Given the description of an element on the screen output the (x, y) to click on. 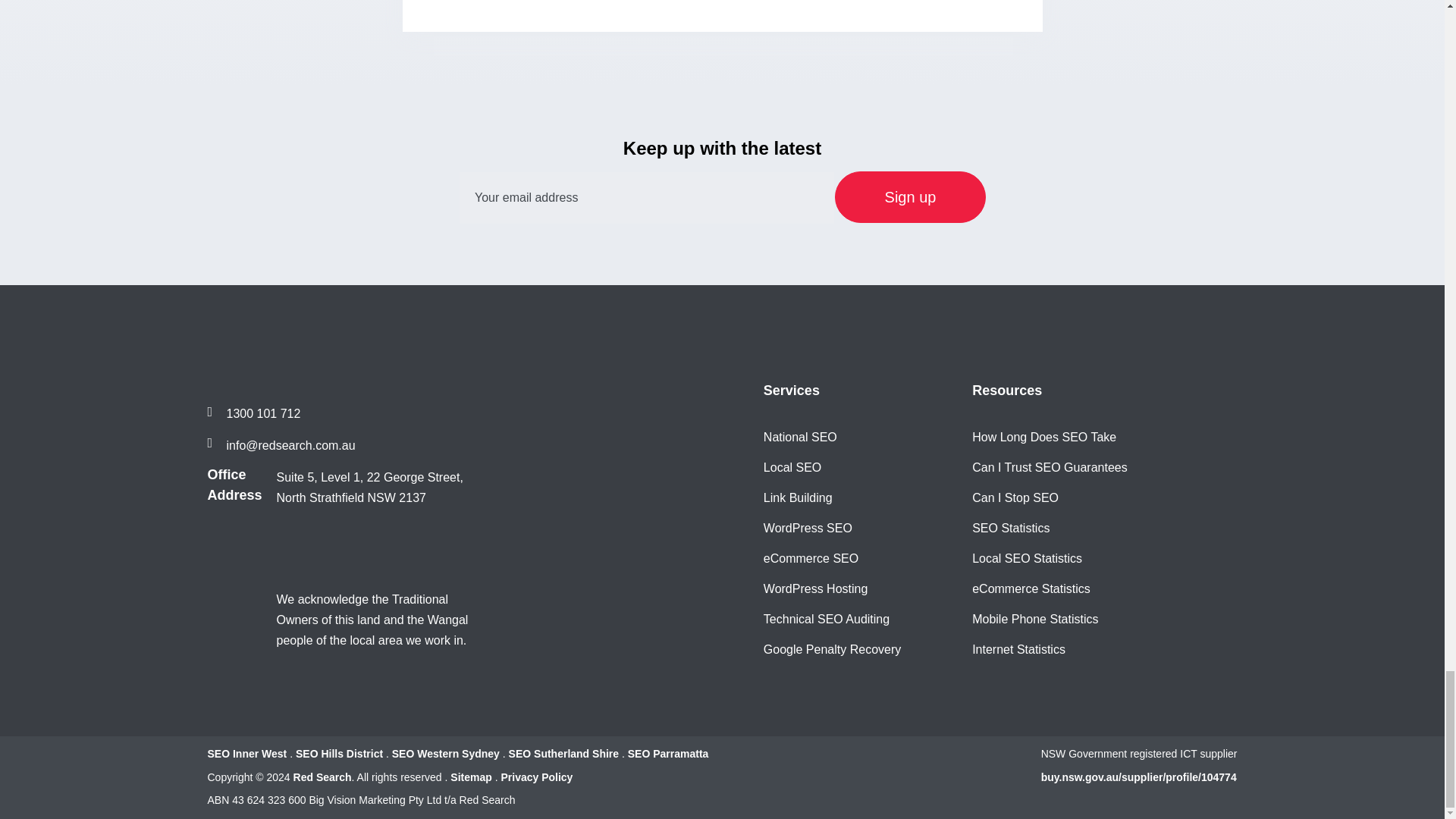
1300 101 712 (254, 414)
WordPress SEO (806, 527)
Link Building (797, 497)
Sign up (909, 196)
Services (790, 390)
Call Us on 1300 101 712 (254, 414)
Services (790, 390)
Local SEO (791, 467)
Sign up (909, 196)
National SEO (799, 436)
